Given the description of an element on the screen output the (x, y) to click on. 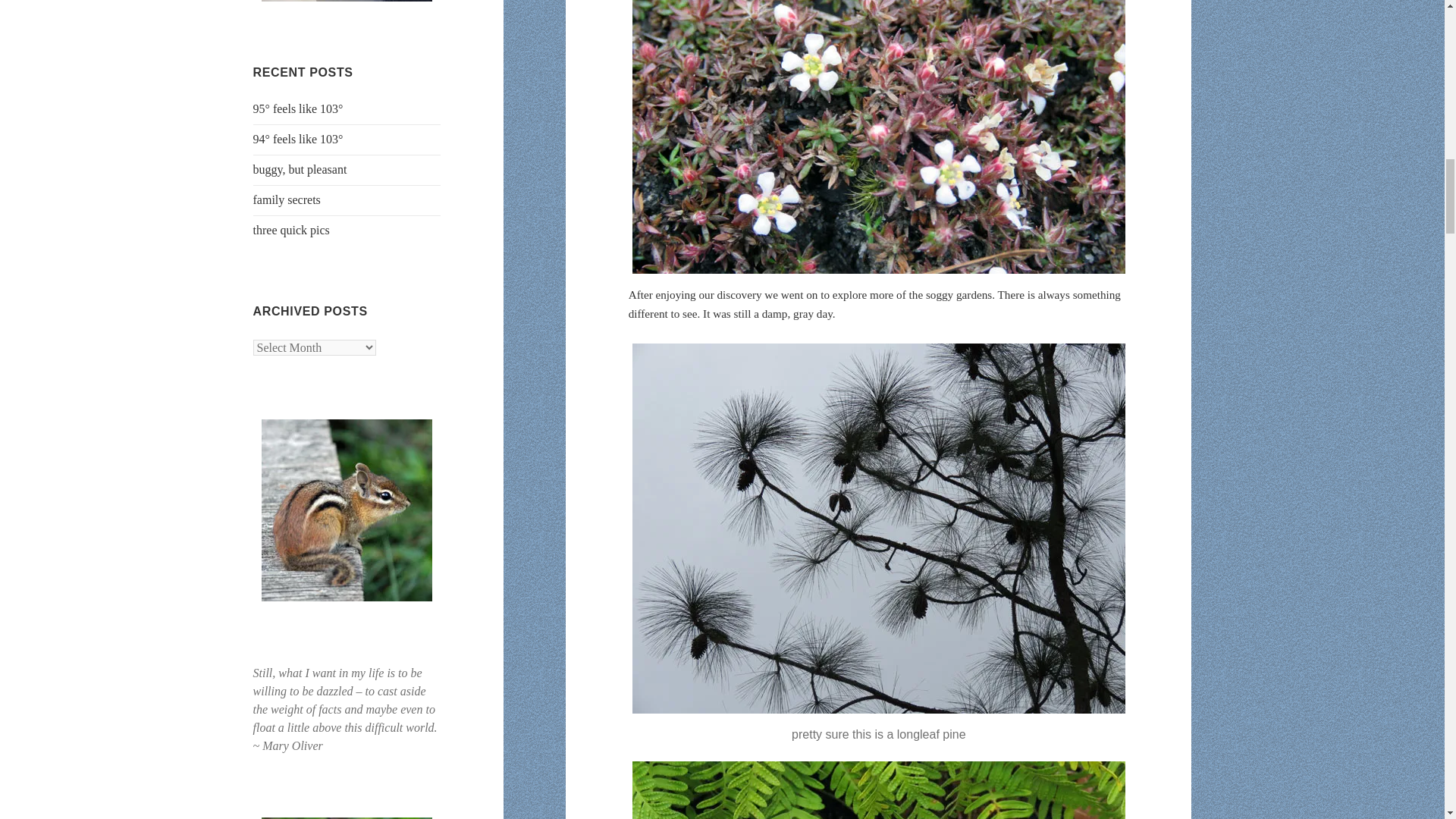
buggy, but pleasant (300, 169)
family secrets (286, 199)
three quick pics (291, 229)
